Given the description of an element on the screen output the (x, y) to click on. 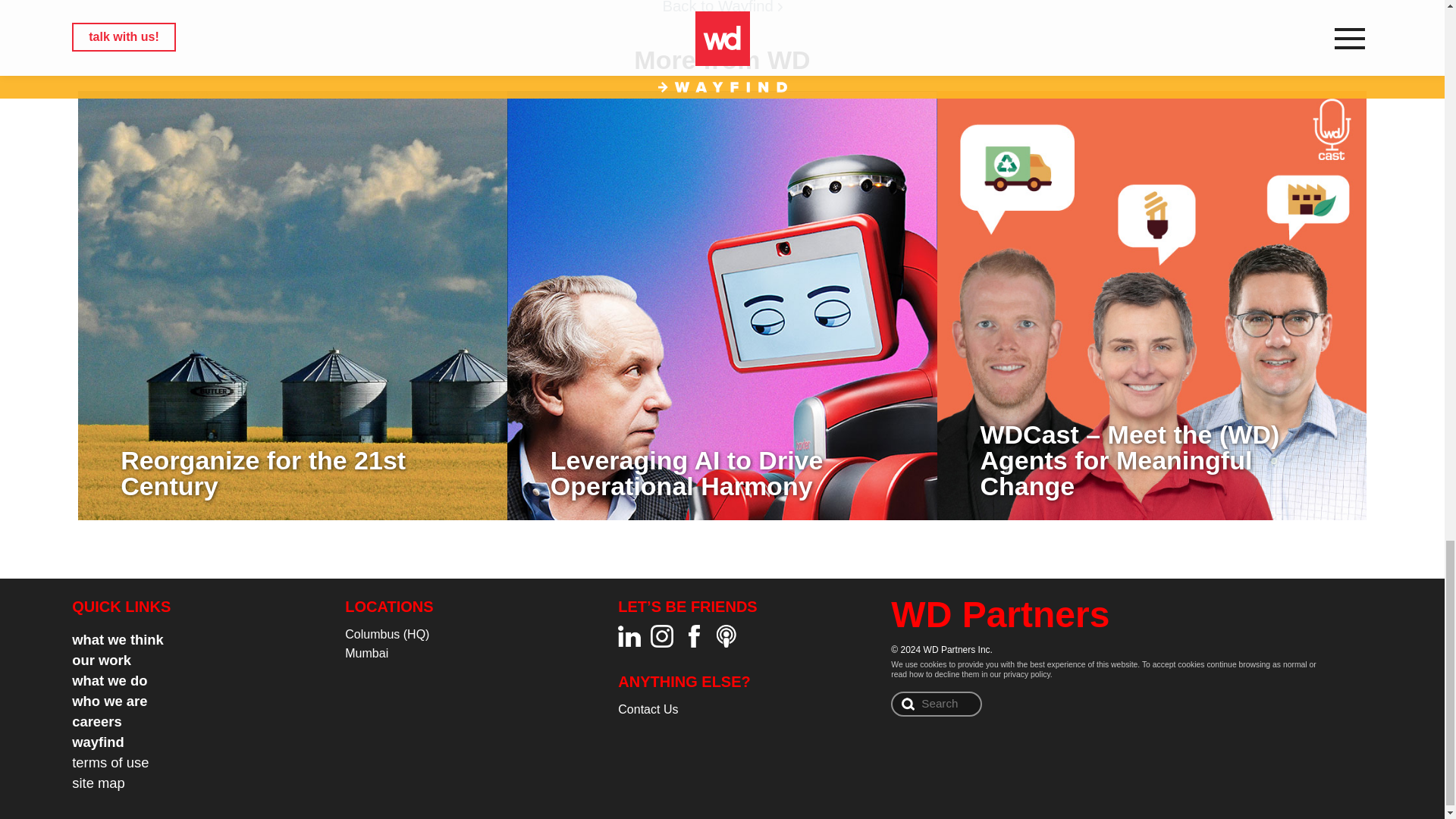
wayfind (97, 741)
site map (98, 782)
what we do (109, 680)
WD Partners in Columbus, Ohio (387, 634)
terms of use (109, 762)
WD Partners in Mumbai, India (366, 653)
careers (95, 721)
who we are (109, 700)
Mumbai (366, 653)
Back to Wayfind (721, 7)
our work (101, 659)
